Given the description of an element on the screen output the (x, y) to click on. 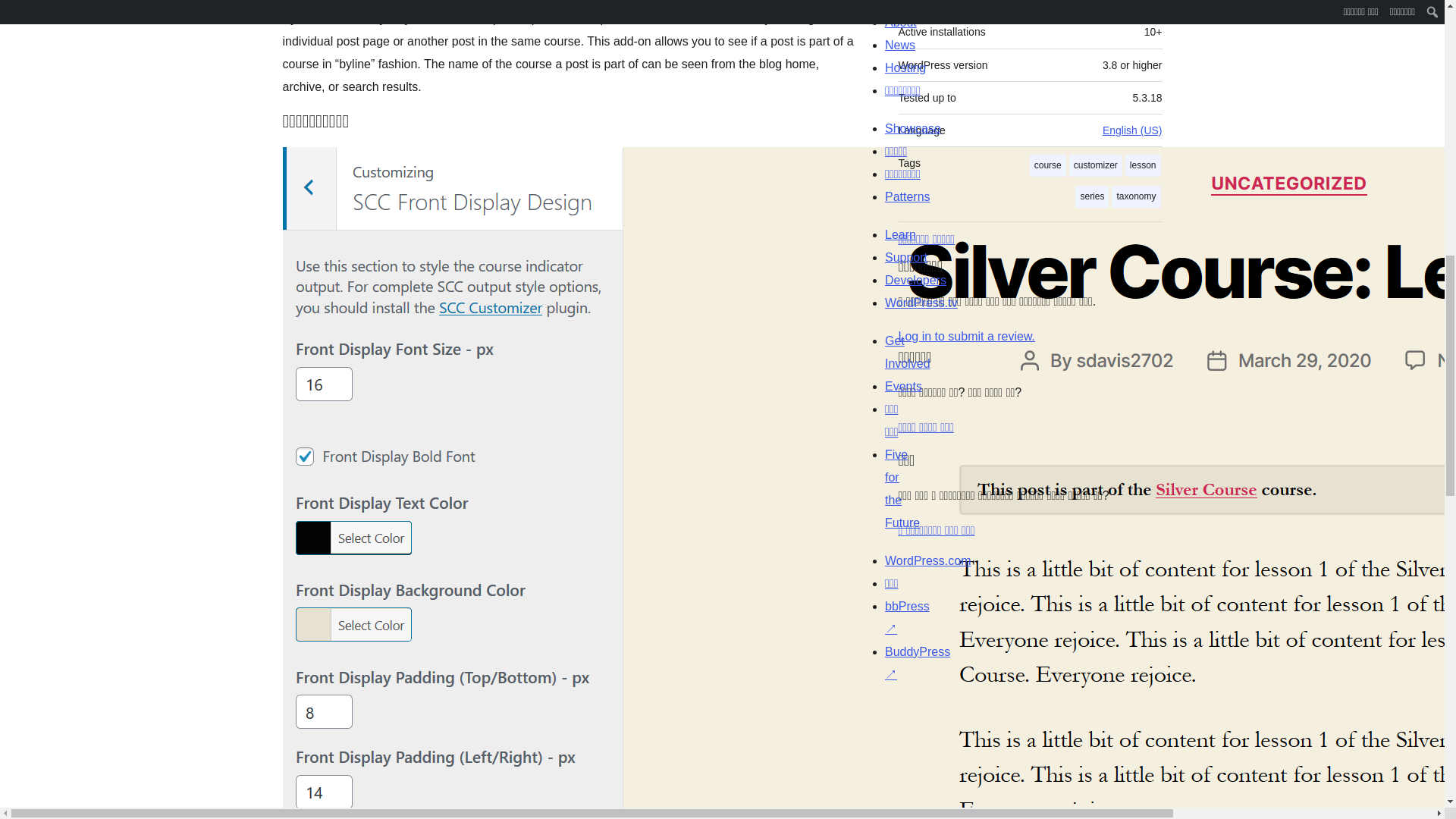
Log in to WordPress.org (966, 336)
WordPress.org (864, 705)
WordPress.org (1014, 705)
